Given the description of an element on the screen output the (x, y) to click on. 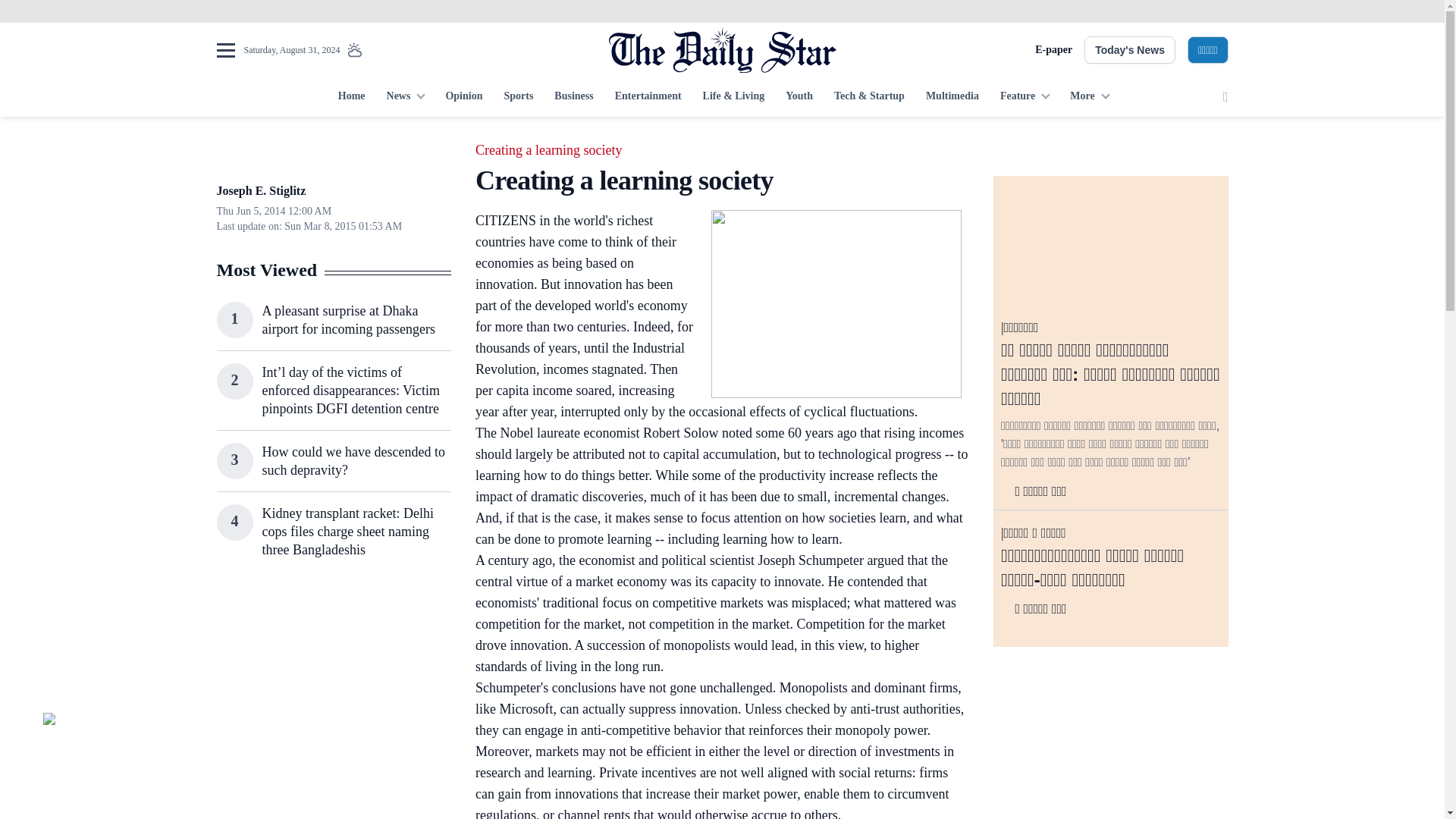
Multimedia (952, 96)
Sports (518, 96)
E-paper (1053, 49)
Home (351, 96)
Today's News (1129, 49)
News (405, 96)
Entertainment (647, 96)
Business (573, 96)
Youth (799, 96)
